Given the description of an element on the screen output the (x, y) to click on. 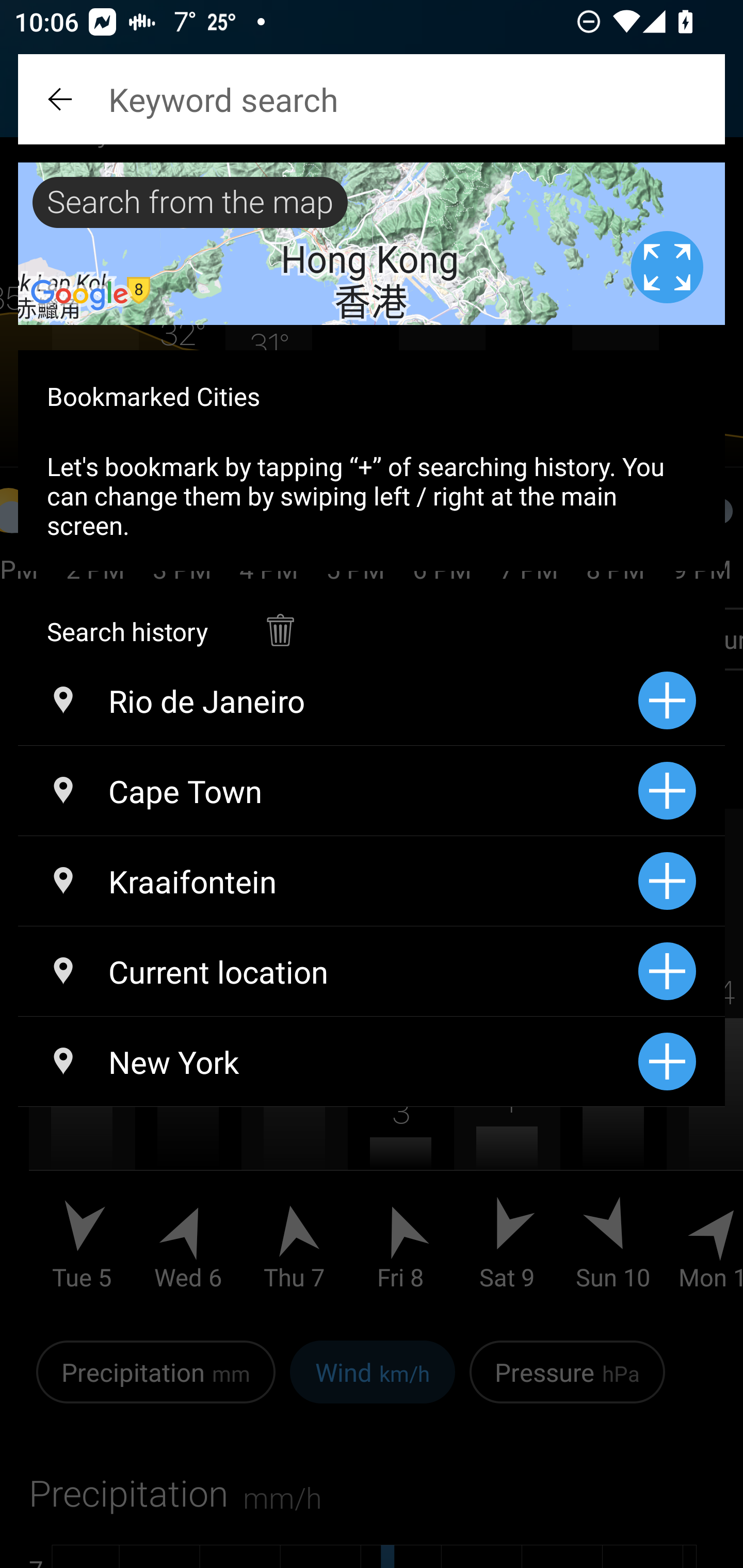
Keyword search (371, 99)
 (61, 99)
 (280, 619)
 Rio de Janeiro (327, 700)
 Cape Town (327, 790)
 Kraaifontein (327, 880)
 Current location (327, 971)
 New York (327, 1061)
